Given the description of an element on the screen output the (x, y) to click on. 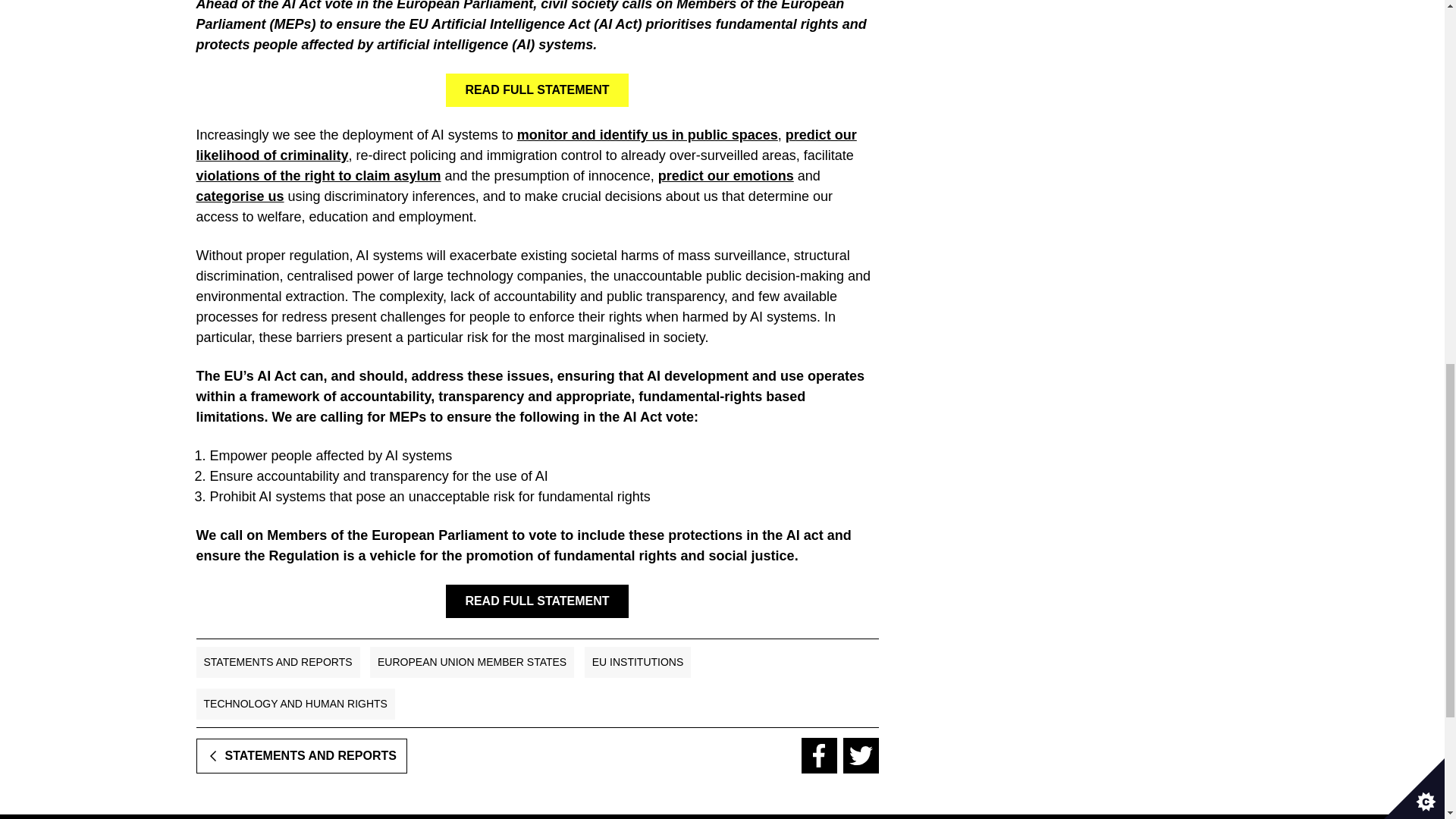
EU INSTITUTIONS (638, 662)
STATEMENTS AND REPORTS (300, 755)
Share on Facebook (817, 755)
monitor and identify us in public spaces (646, 134)
READ FULL STATEMENT (536, 601)
STATEMENTS AND REPORTS (277, 662)
predict our emotions (725, 175)
categorise us (239, 196)
violations of the right to claim asylum (318, 175)
Share on Twitter (861, 755)
READ FULL STATEMENT (536, 90)
predict our likelihood of criminality (525, 144)
TECHNOLOGY AND HUMAN RIGHTS (294, 703)
EUROPEAN UNION MEMBER STATES (471, 662)
